Given the description of an element on the screen output the (x, y) to click on. 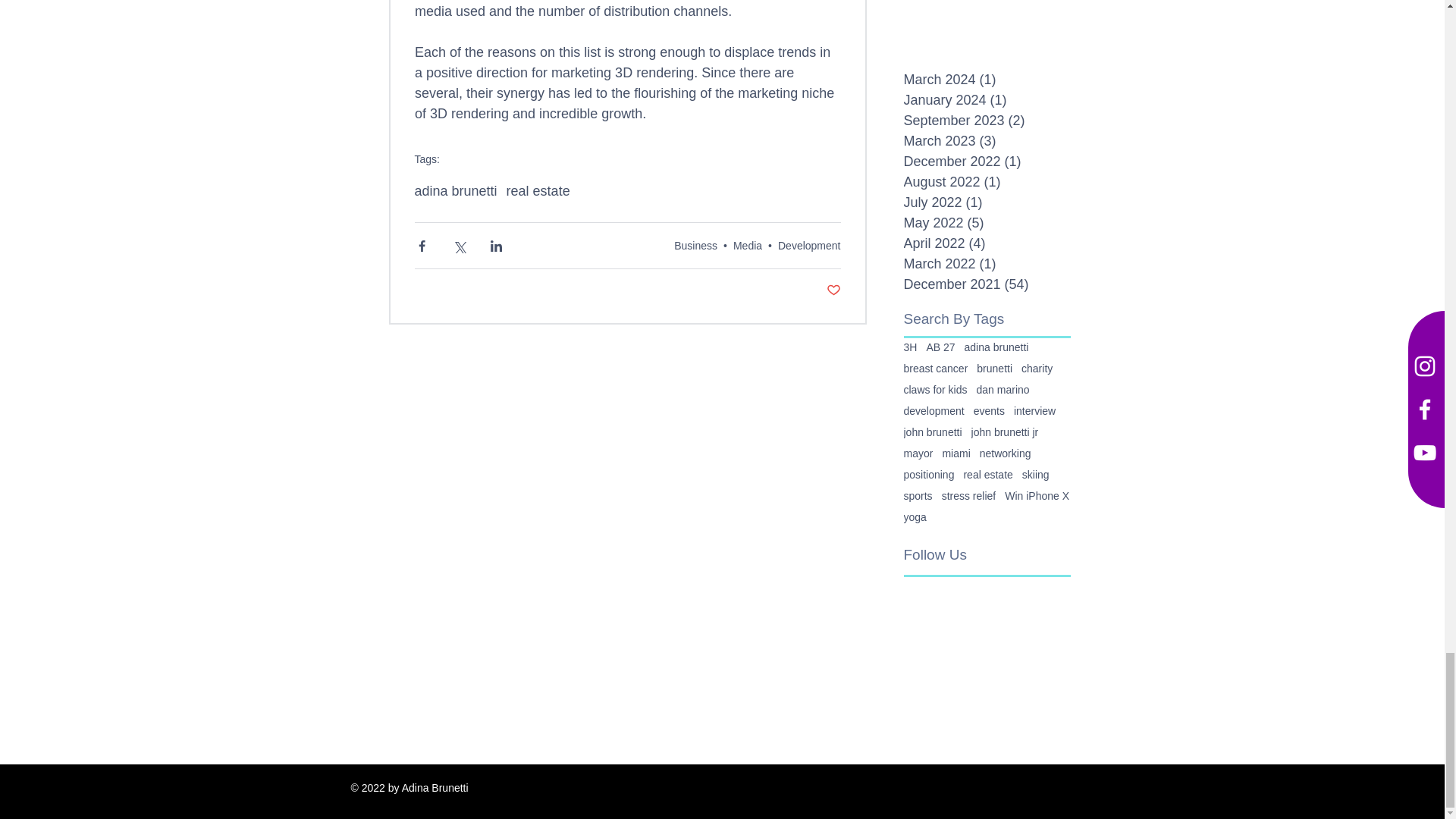
AB 27 (940, 346)
3H (910, 346)
breast cancer (936, 368)
brunetti (993, 368)
adina brunetti (454, 191)
Media (747, 245)
real estate (538, 191)
adina brunetti (996, 346)
Development (809, 245)
Post not marked as liked (834, 290)
